Given the description of an element on the screen output the (x, y) to click on. 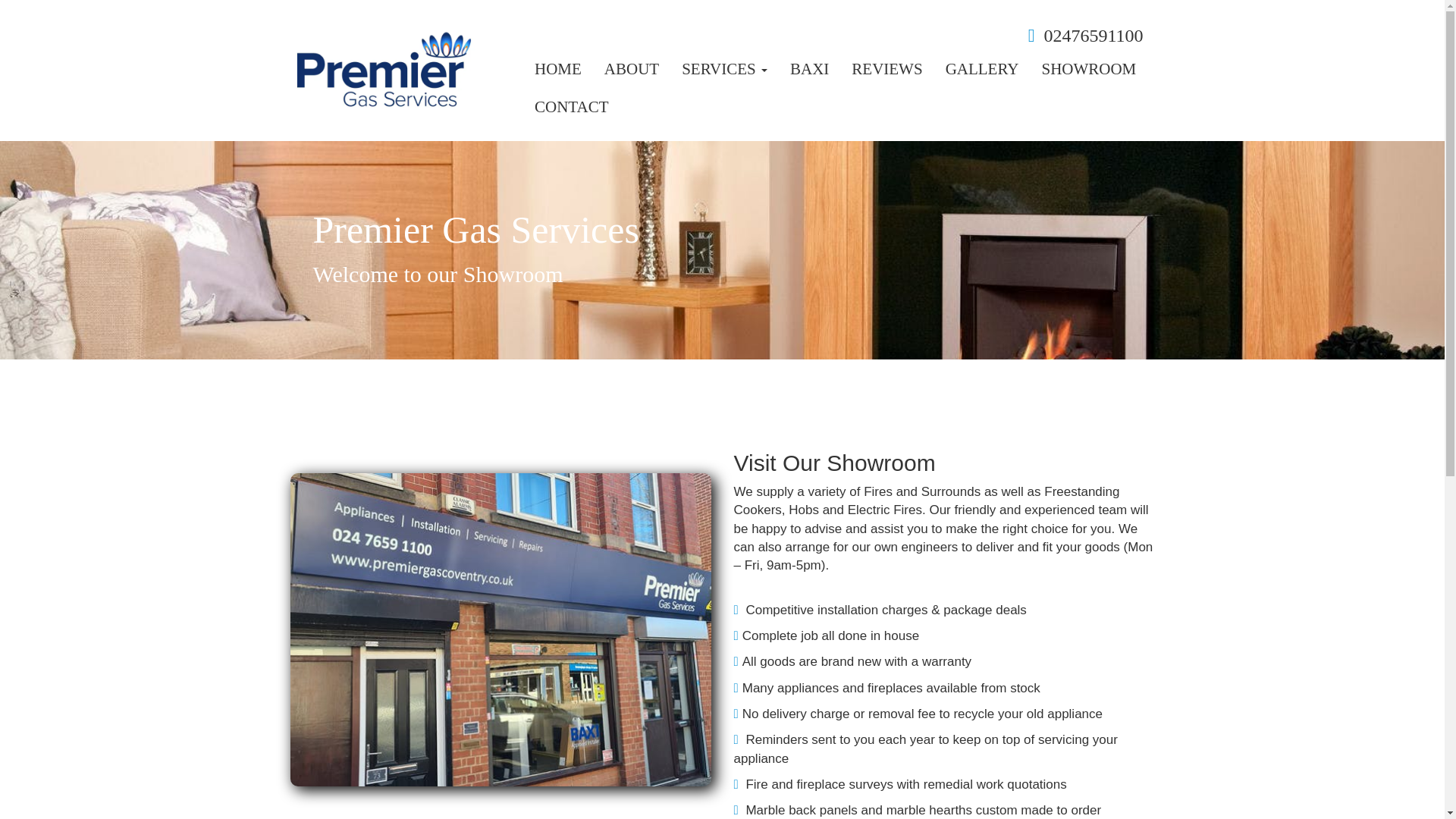
ABOUT (630, 68)
CONTACT (571, 106)
02476591100 (1092, 35)
SHOWROOM (1088, 68)
SERVICES (723, 68)
HOME (557, 68)
REVIEWS (886, 68)
GALLERY (982, 68)
BAXI (809, 68)
